Given the description of an element on the screen output the (x, y) to click on. 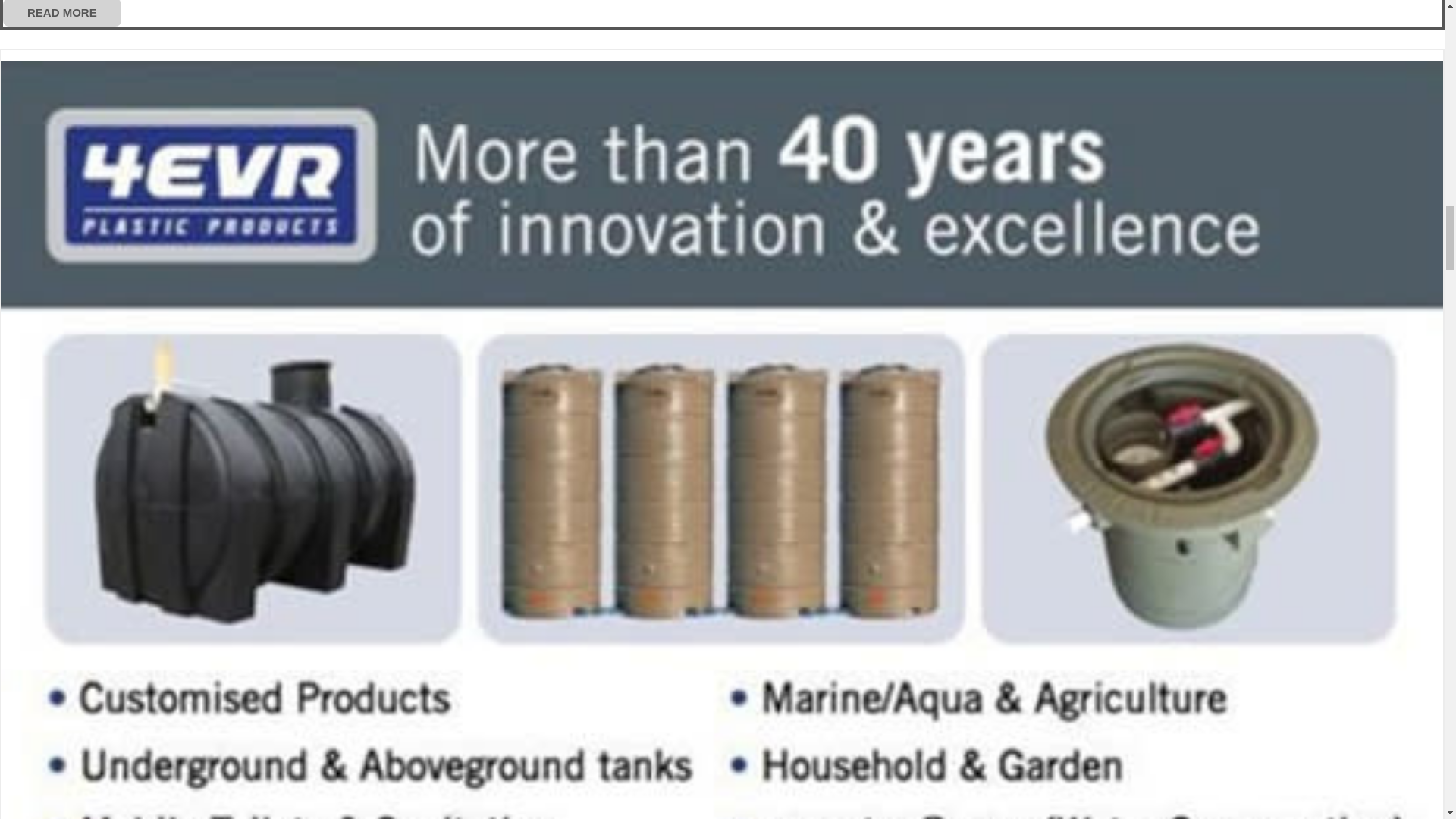
READ MORE (61, 13)
